Given the description of an element on the screen output the (x, y) to click on. 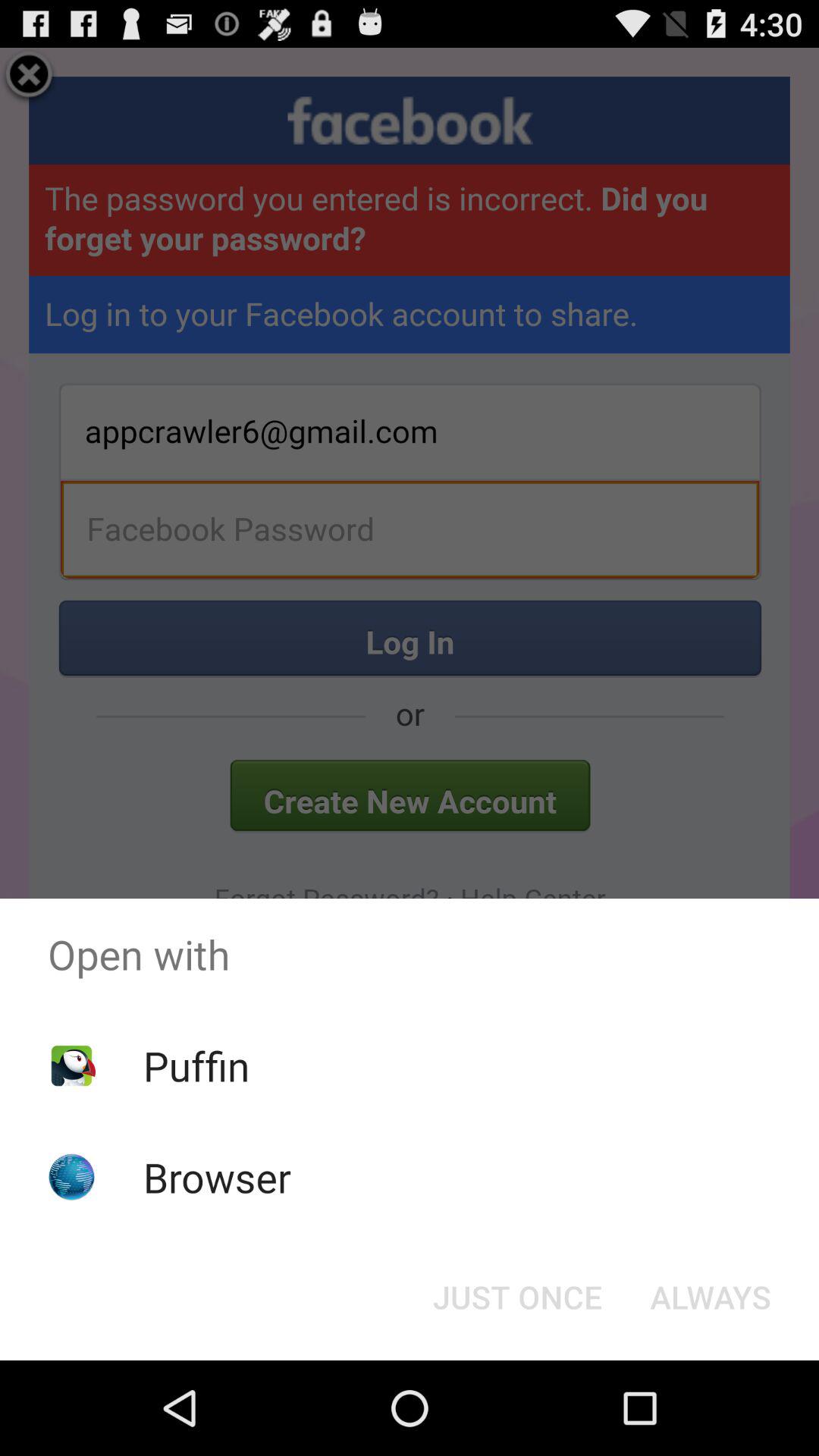
tap the just once at the bottom (517, 1296)
